Given the description of an element on the screen output the (x, y) to click on. 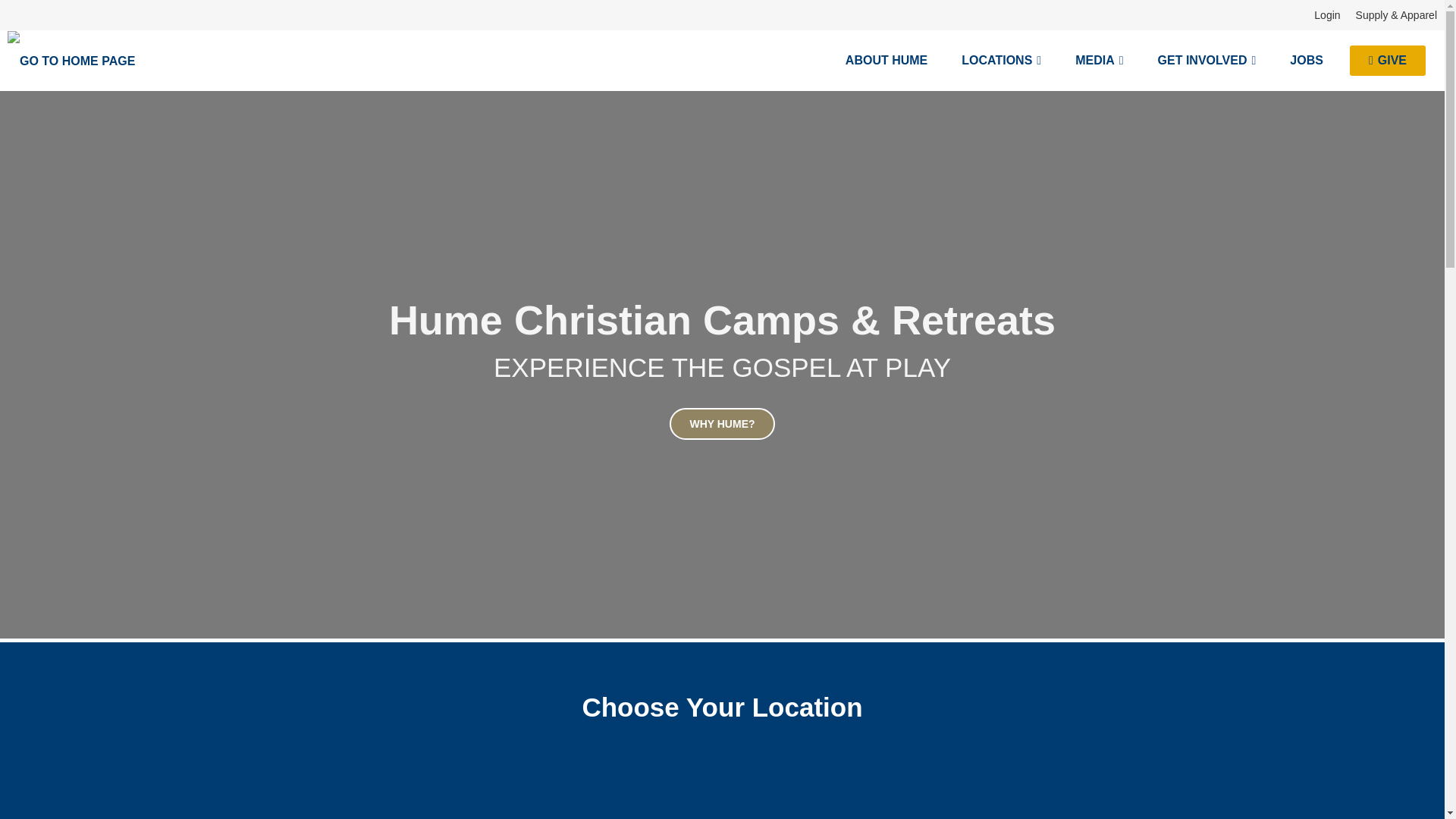
LOCATIONS (1000, 60)
Login (1327, 15)
ABOUT HUME (886, 60)
